Given the description of an element on the screen output the (x, y) to click on. 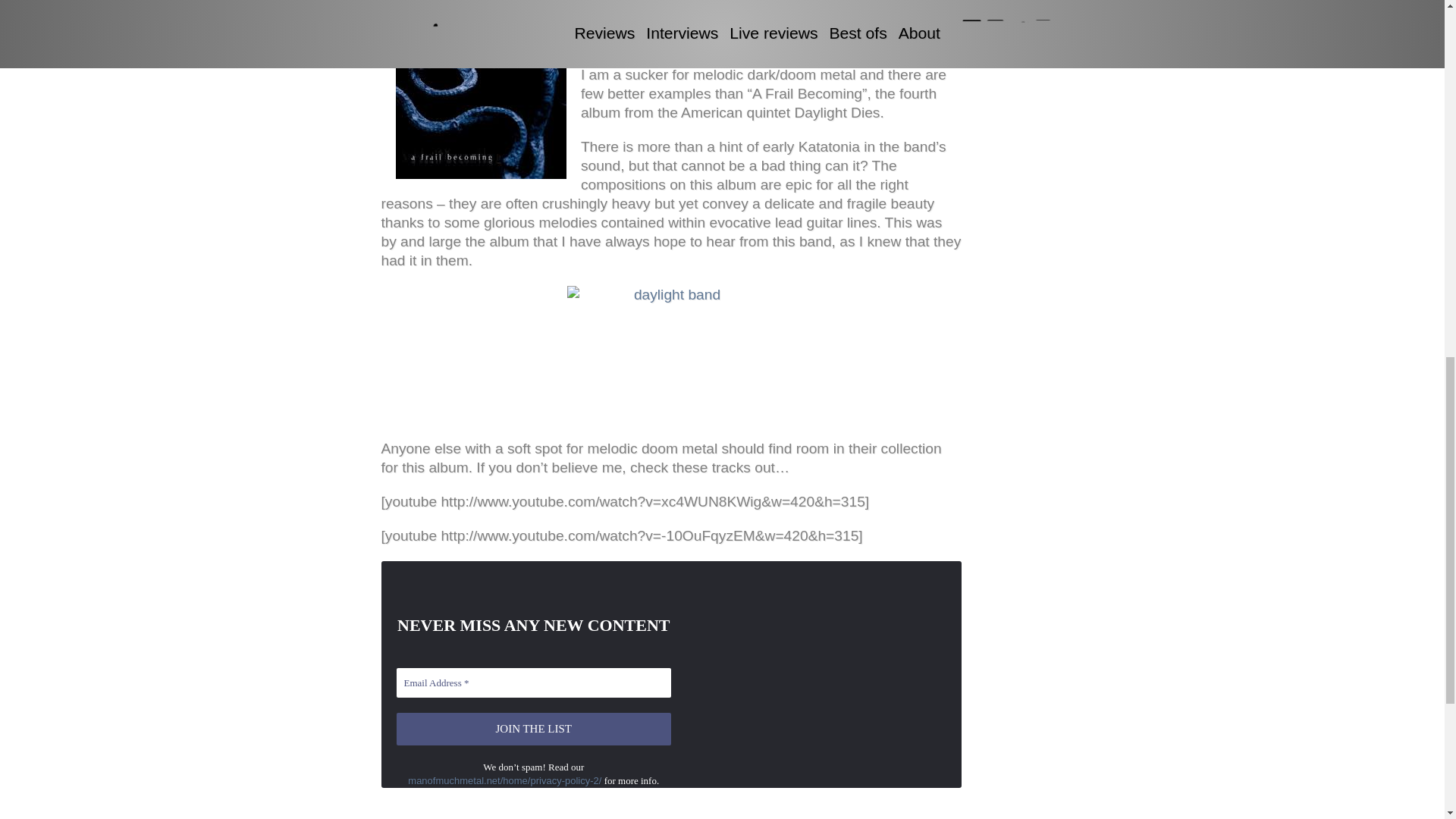
Email Address (533, 682)
JOIN THE LIST (533, 728)
JOIN THE LIST (533, 728)
